Given the description of an element on the screen output the (x, y) to click on. 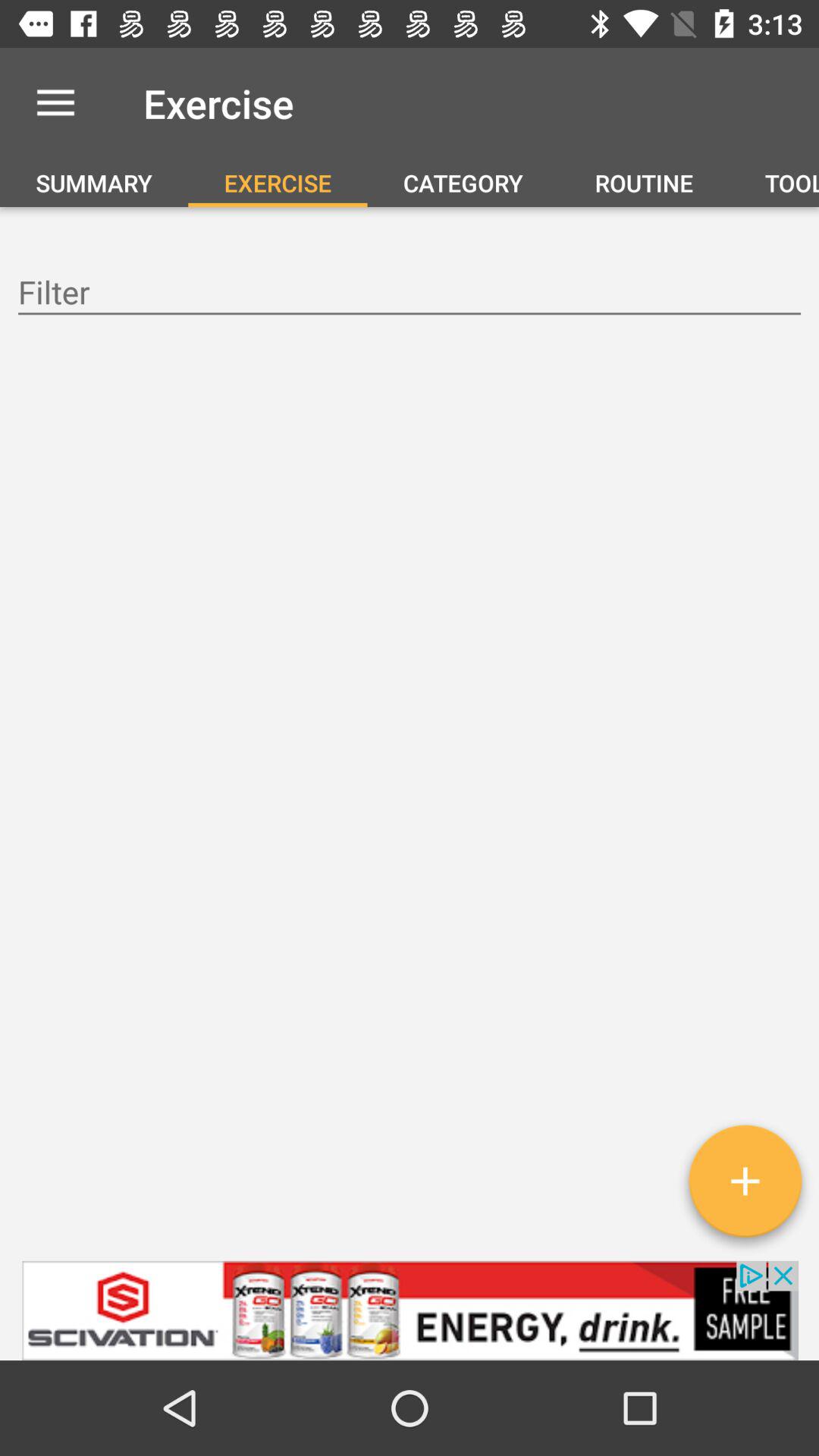
view this advertisement (409, 1310)
